Given the description of an element on the screen output the (x, y) to click on. 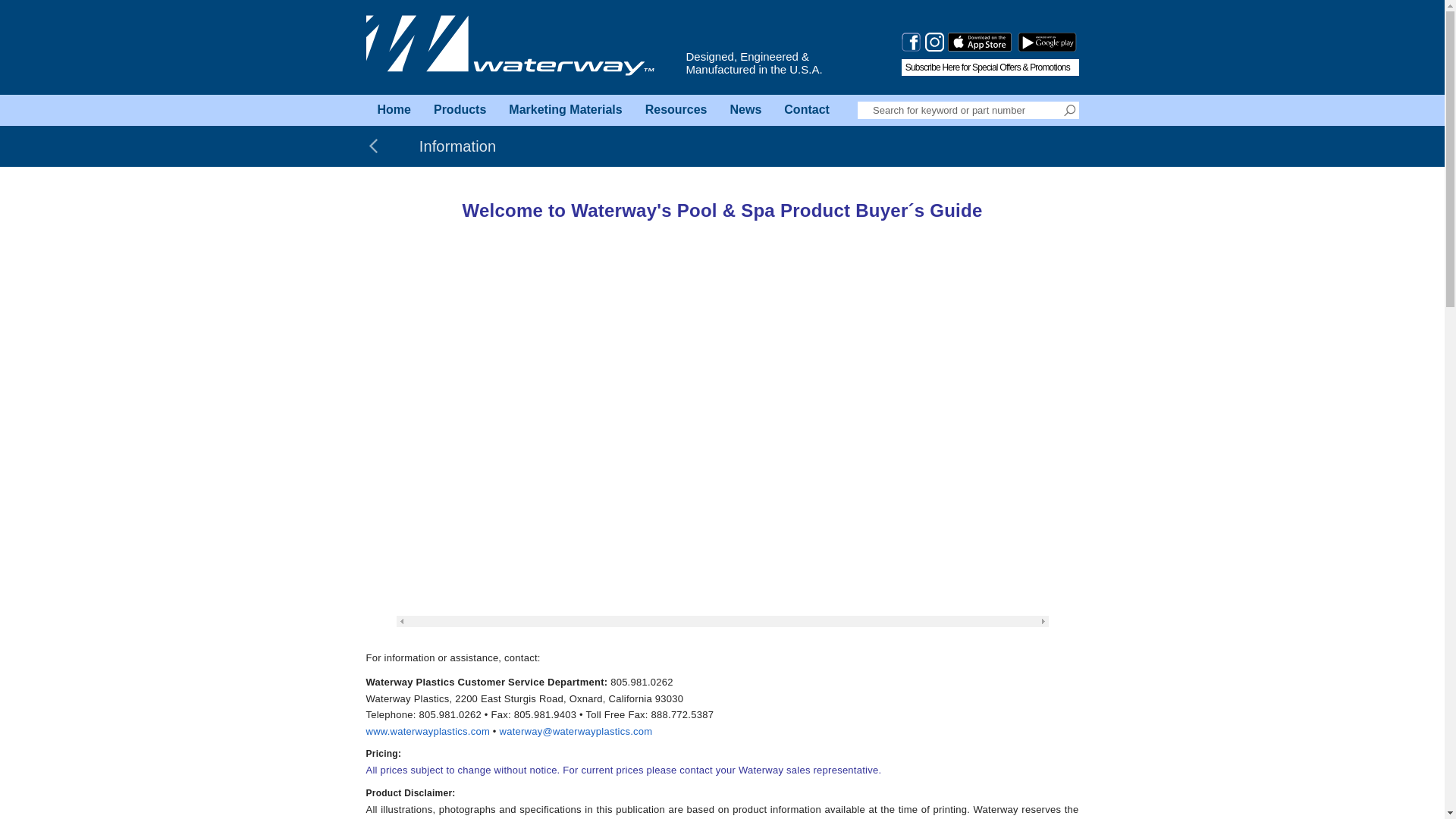
News (746, 110)
Products (459, 110)
Resources (676, 110)
Marketing Materials (565, 110)
Contact (807, 110)
Home (393, 110)
